Given the description of an element on the screen output the (x, y) to click on. 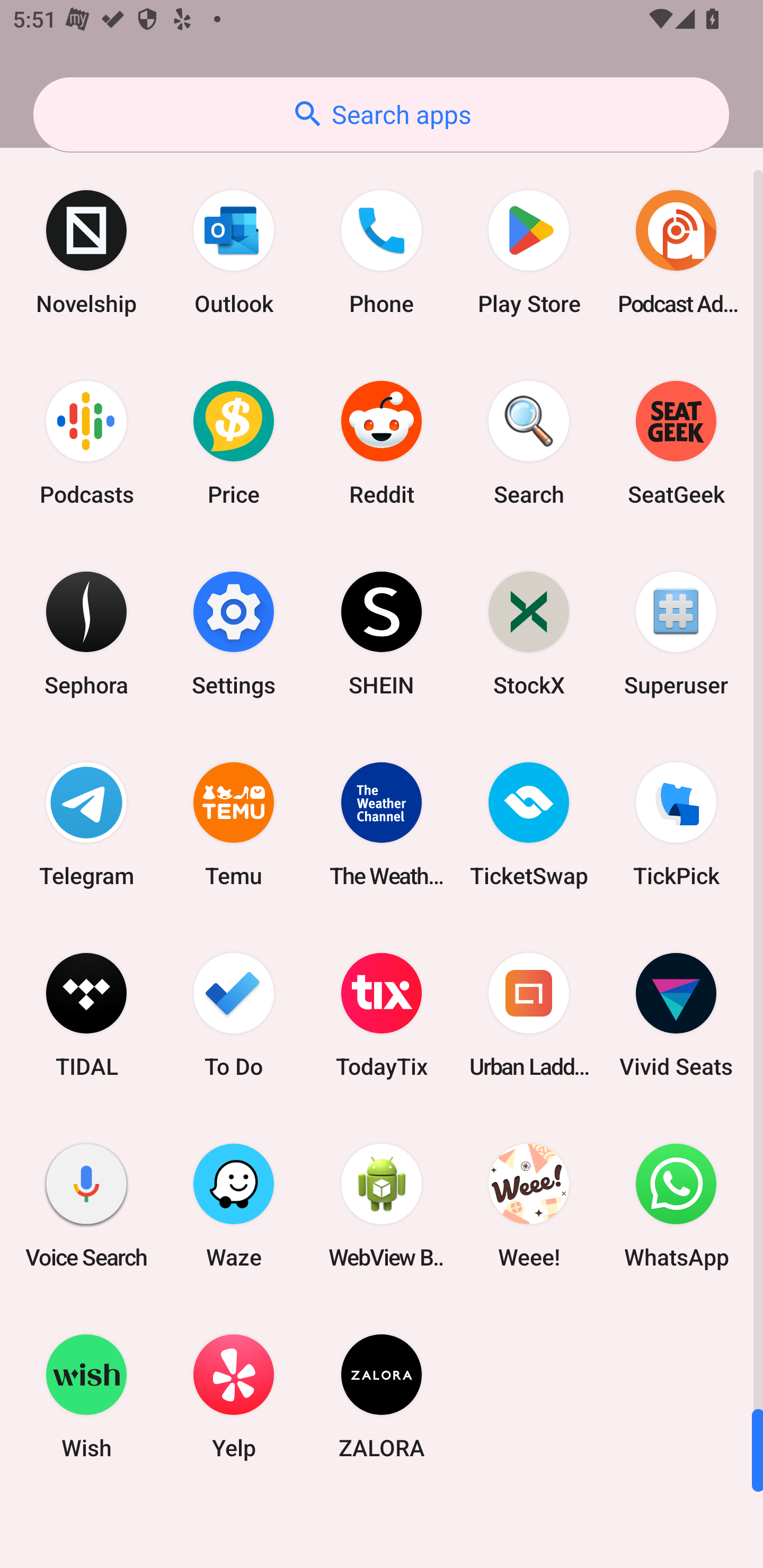
Yelp (233, 1396)
